Given the description of an element on the screen output the (x, y) to click on. 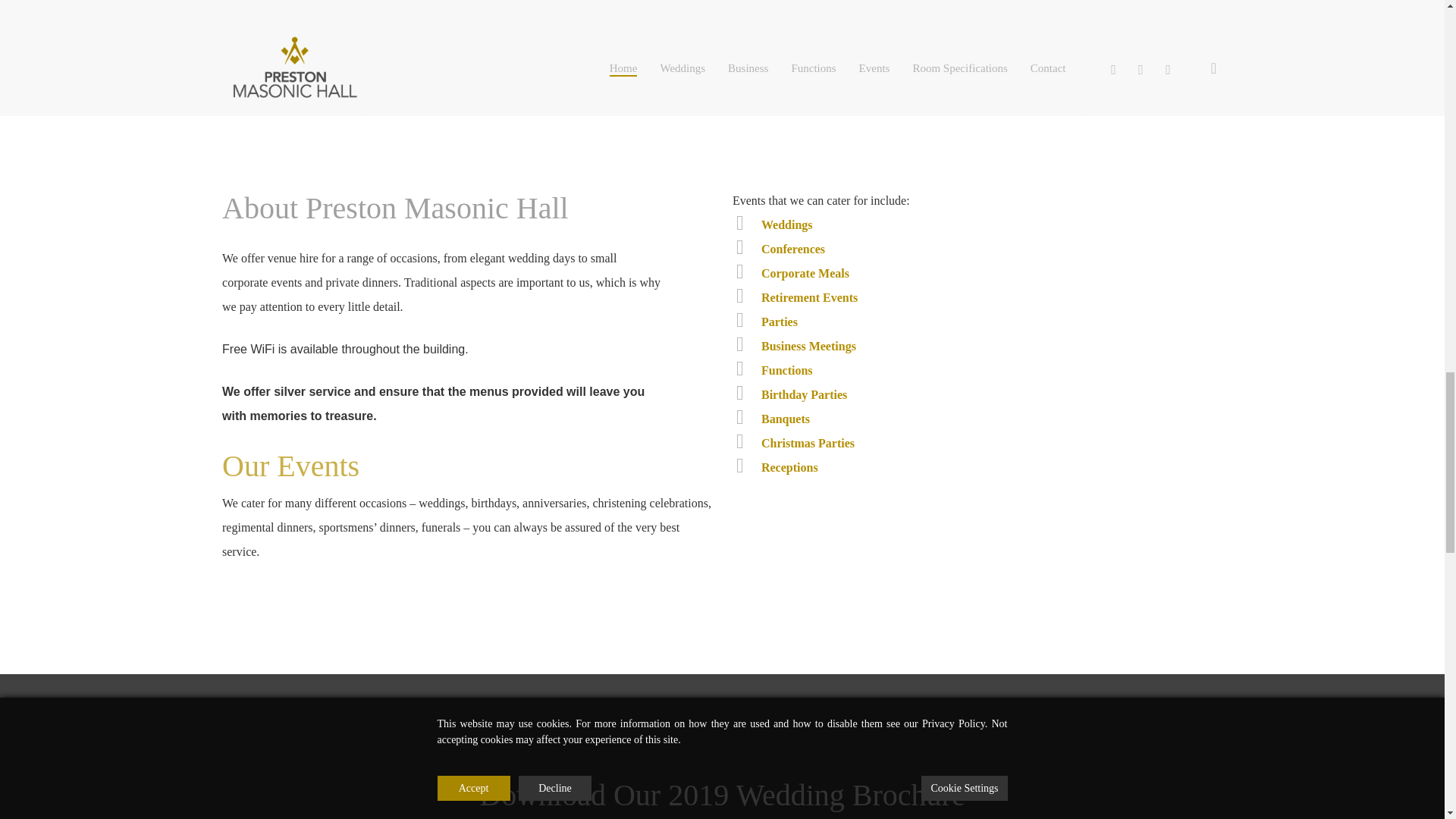
Weddings (786, 224)
Corporate Meals (804, 273)
Conferences (793, 248)
